Given the description of an element on the screen output the (x, y) to click on. 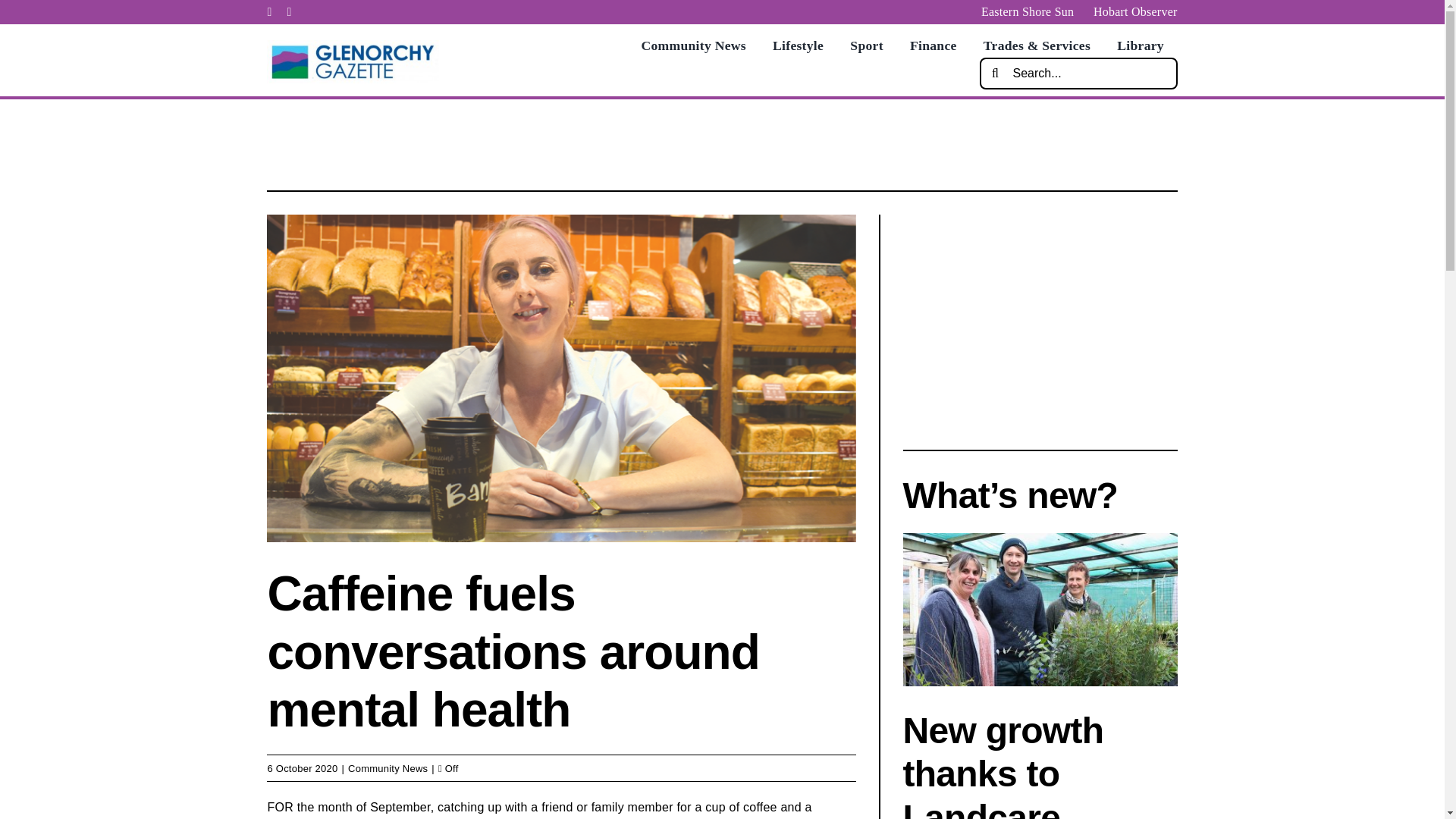
New growth thanks to Landcare (1002, 764)
Library (1139, 45)
Advertisement (1039, 320)
Community News (693, 45)
Sport (866, 45)
Lifestyle (798, 45)
Finance (933, 45)
Advertisement (721, 141)
Community News (387, 767)
